Given the description of an element on the screen output the (x, y) to click on. 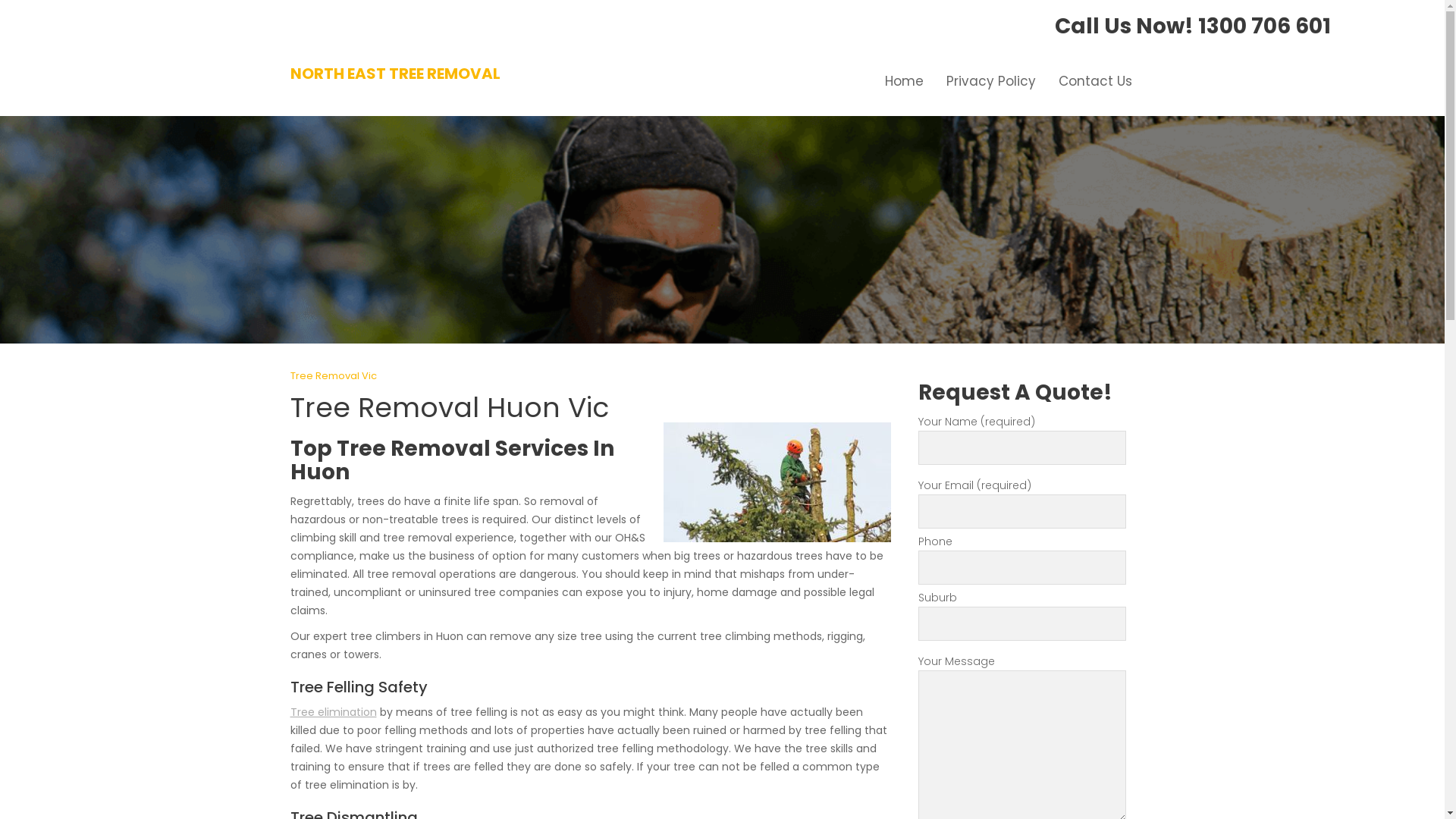
Tree Removal Vic Element type: text (332, 375)
1300 706 601 Element type: text (1264, 25)
Contact Us Element type: text (1094, 81)
Home Element type: text (904, 81)
Privacy Policy Element type: text (990, 81)
NORTH EAST TREE REMOVAL Element type: text (394, 73)
Tree elimination Element type: text (332, 711)
